Given the description of an element on the screen output the (x, y) to click on. 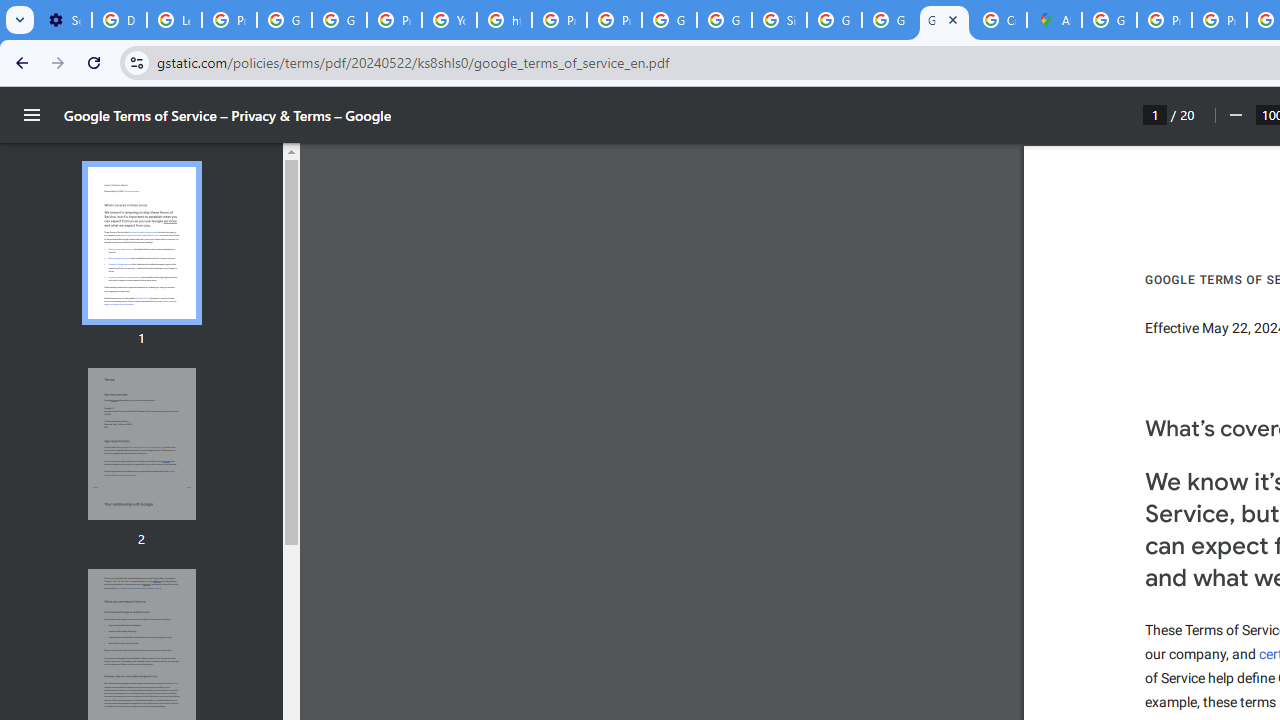
AutomationID: thumbnail (141, 443)
Privacy Help Center - Policies Help (559, 20)
